Given the description of an element on the screen output the (x, y) to click on. 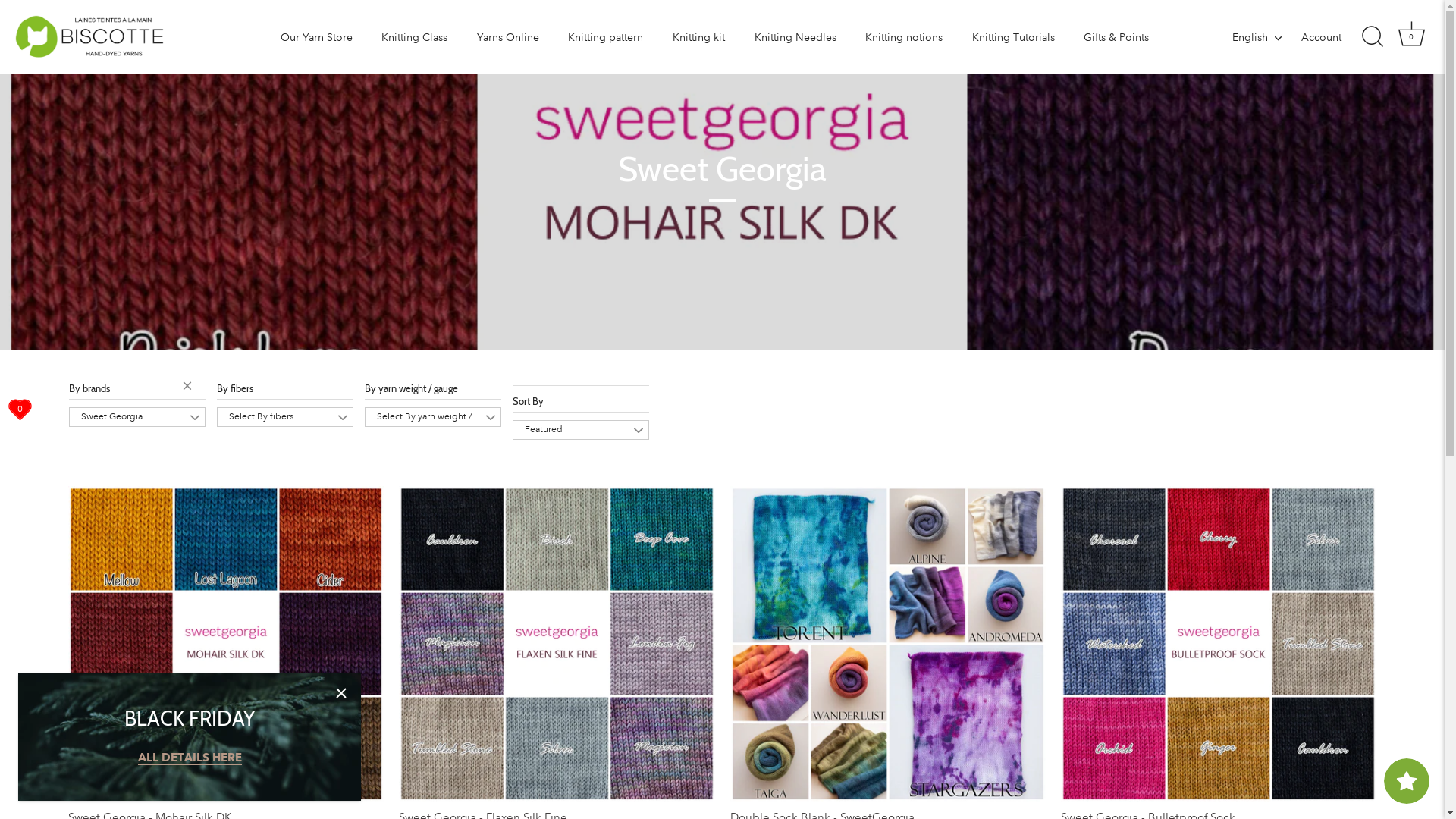
ALL DETAILS HERE Element type: text (189, 757)
Knitting Tutorials Element type: text (1012, 37)
Yarns Online Element type: text (508, 37)
Knitting Class Element type: text (414, 37)
Knitting Needles Element type: text (794, 37)
Our Yarn Store Element type: text (316, 37)
Knitting pattern Element type: text (605, 37)
Knitting kit Element type: text (698, 37)
Account Element type: text (1334, 37)
clear Element type: text (189, 387)
Knitting notions Element type: text (904, 37)
Smile.io Rewards Program Launcher Element type: hover (1406, 780)
Cart
0 Element type: text (1410, 36)
English Element type: text (1265, 36)
Gifts & Points Element type: text (1116, 37)
